Given the description of an element on the screen output the (x, y) to click on. 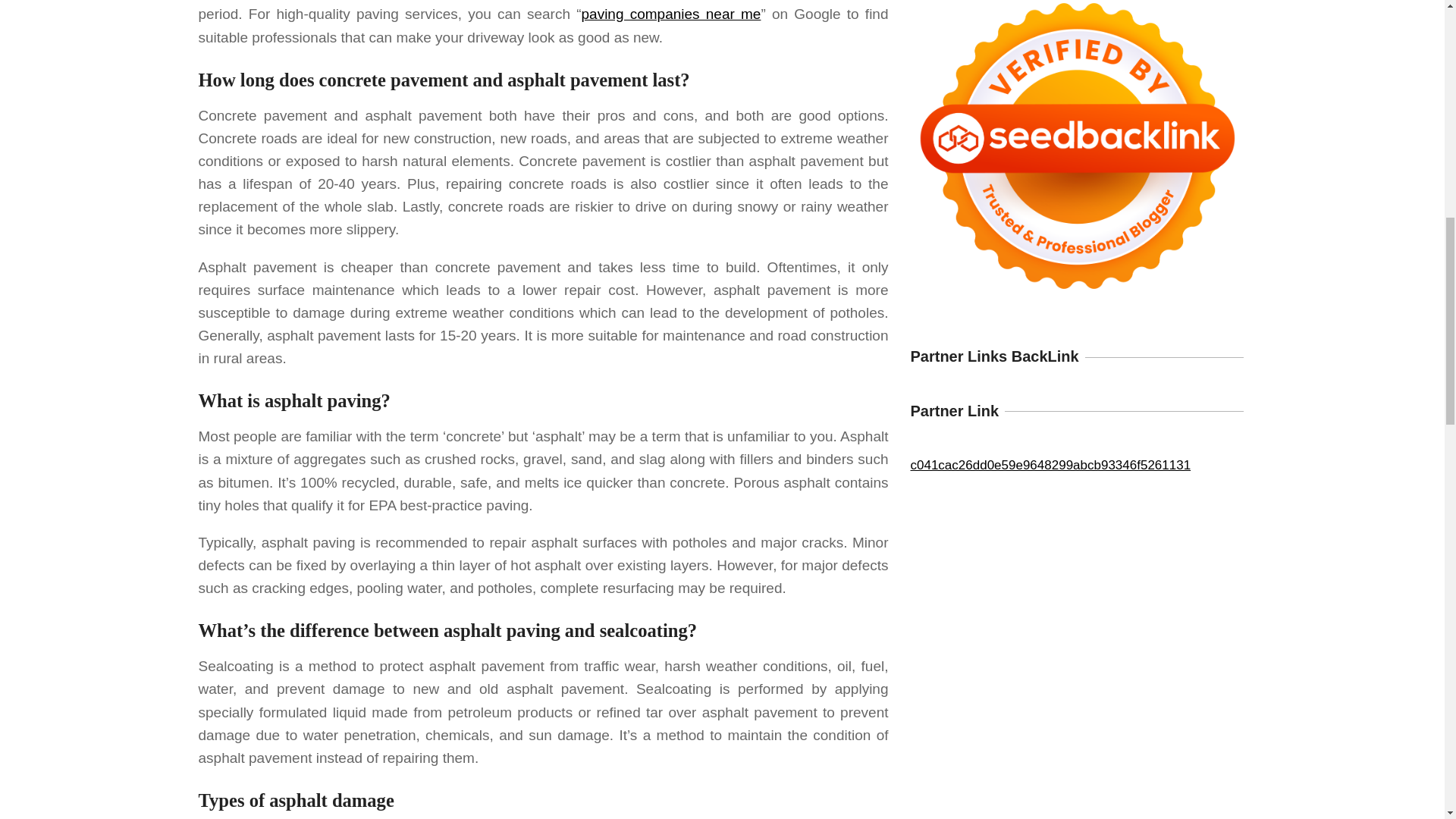
Seedbacklink (1076, 156)
paving companies near me (670, 13)
